Given the description of an element on the screen output the (x, y) to click on. 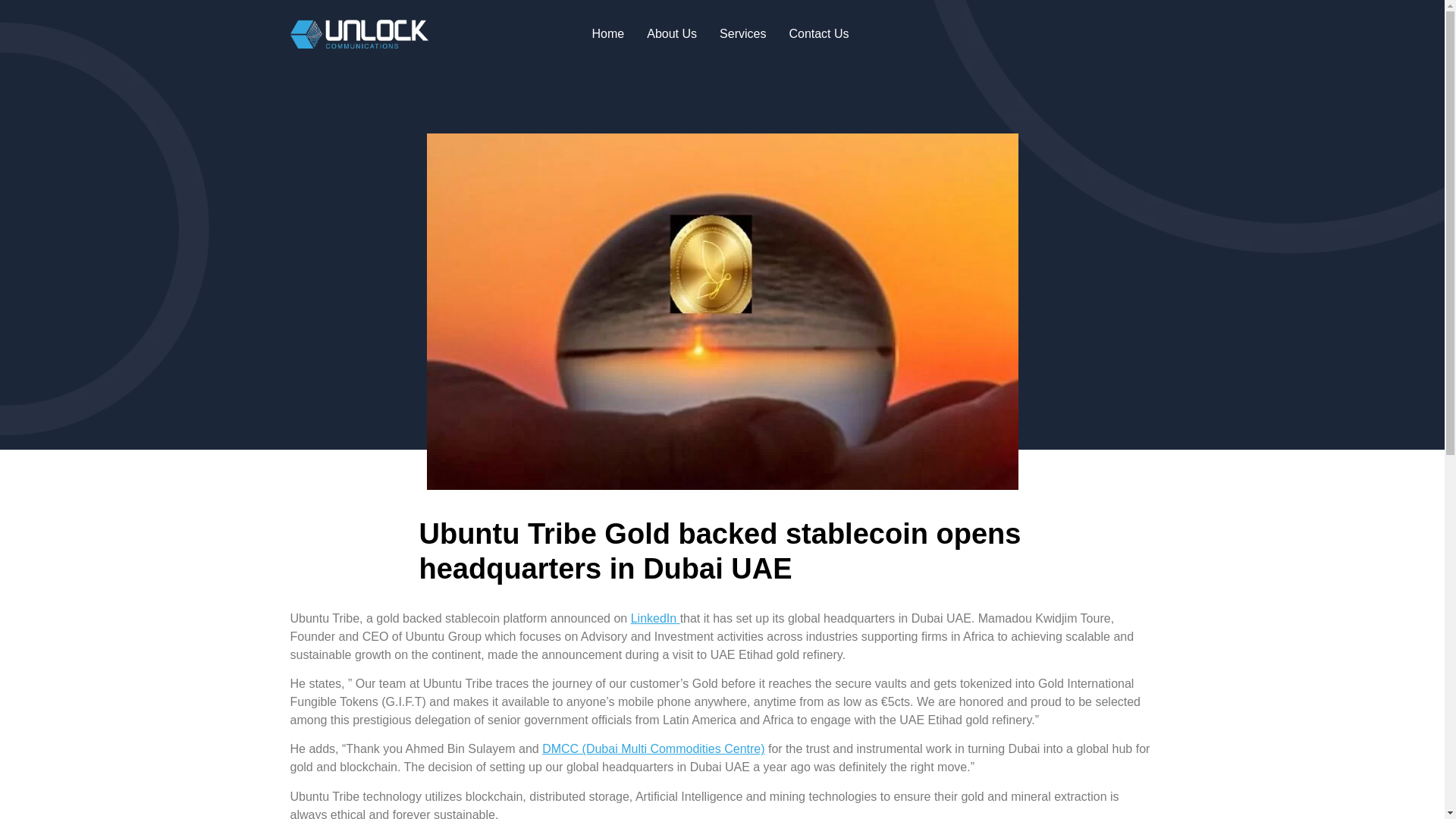
Contact Us (818, 34)
LinkedIn (654, 617)
Services (742, 34)
About Us (670, 34)
Home (608, 34)
